Given the description of an element on the screen output the (x, y) to click on. 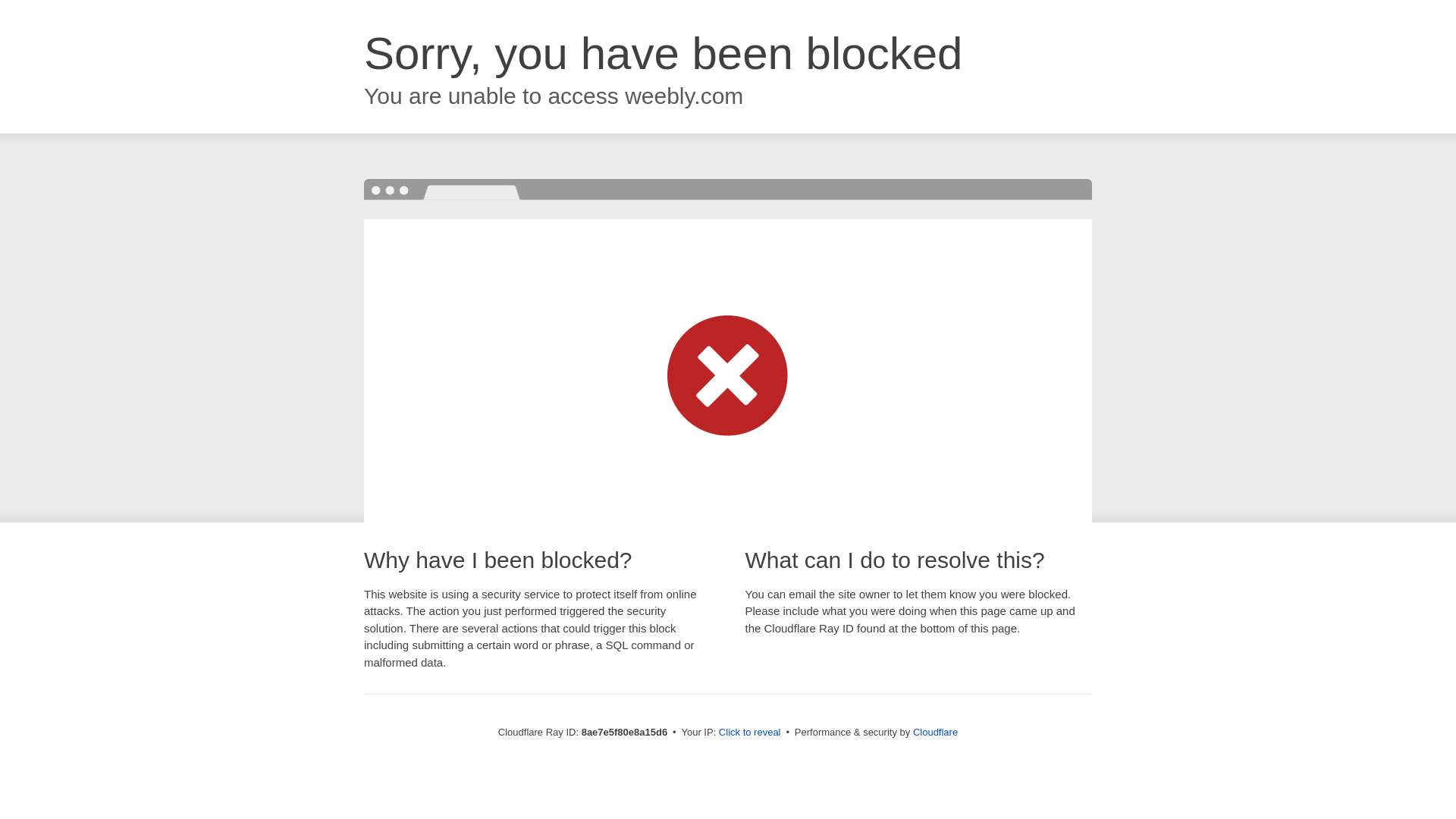
Click to reveal (749, 732)
Cloudflare (935, 731)
